Given the description of an element on the screen output the (x, y) to click on. 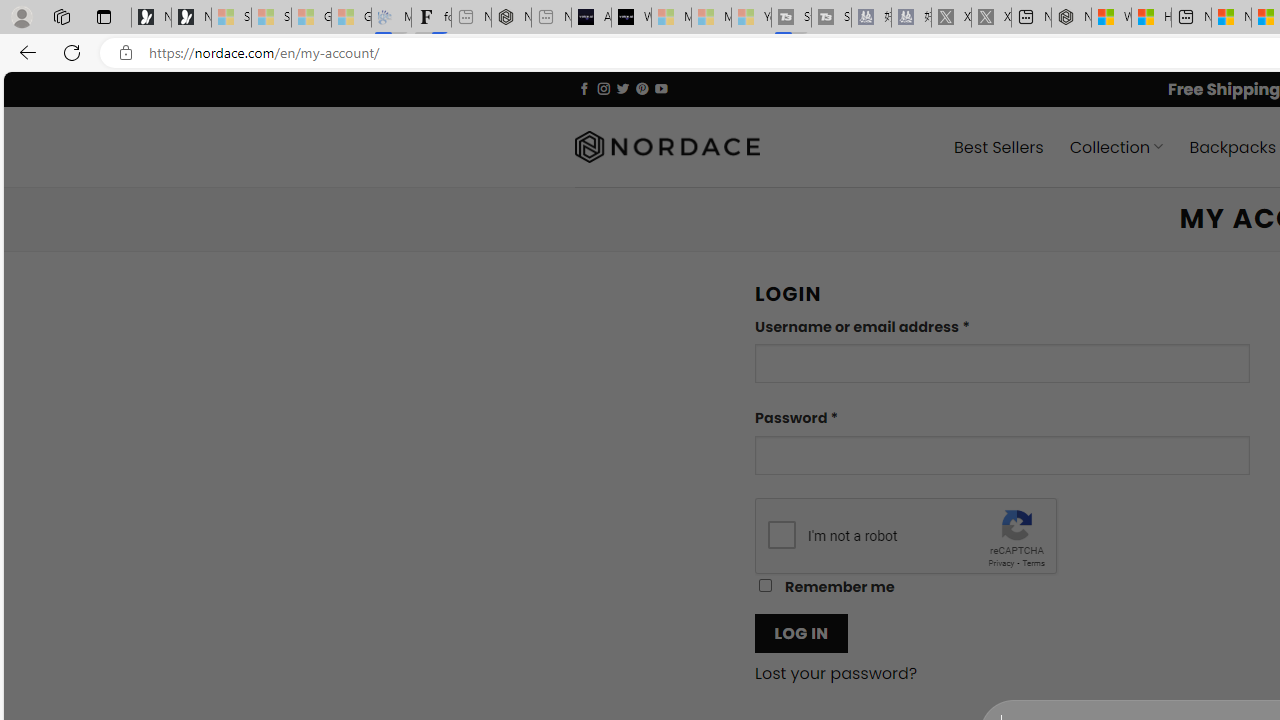
Nordace - #1 Japanese Best-Seller - Siena Smart Backpack (511, 17)
AI Voice Changer for PC and Mac - Voice.ai (591, 17)
Microsoft Start - Sleeping (711, 17)
Microsoft Start Sports - Sleeping (671, 17)
Nordace - My Account (1071, 17)
X - Sleeping (991, 17)
